Given the description of an element on the screen output the (x, y) to click on. 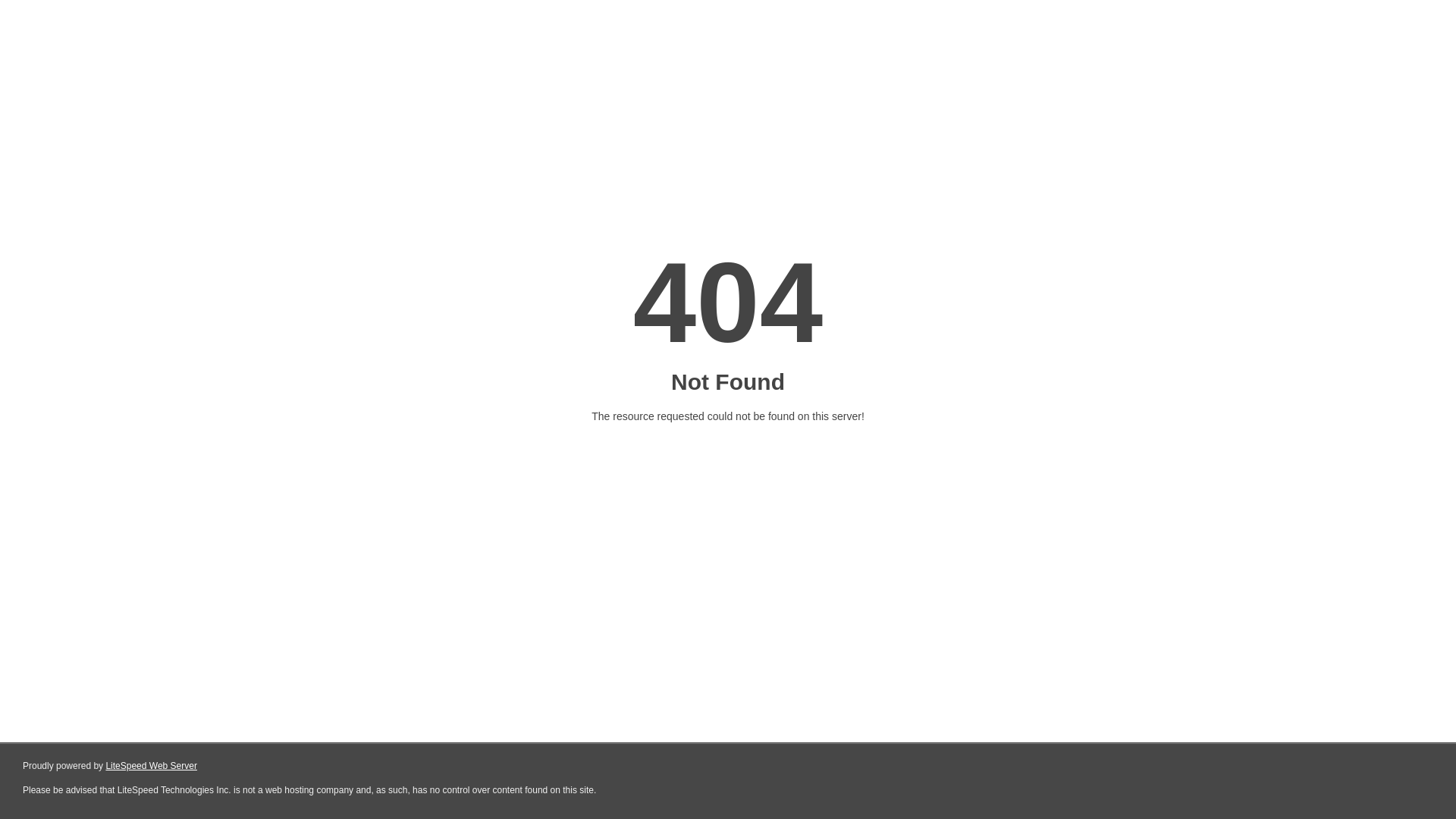
LiteSpeed Web Server Element type: text (151, 765)
